Given the description of an element on the screen output the (x, y) to click on. 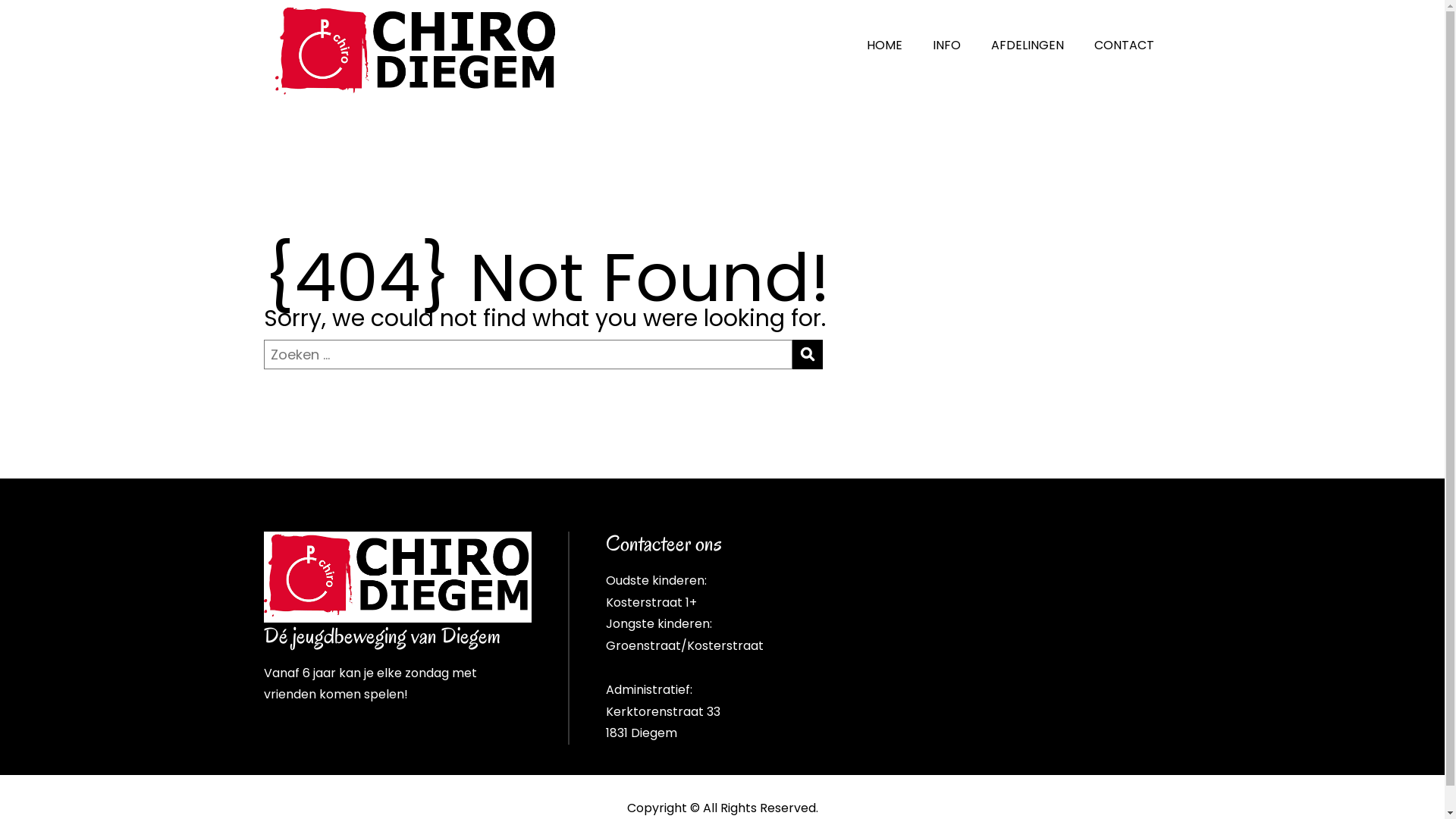
AFDELINGEN Element type: text (1027, 45)
Zoeken naar: Element type: hover (527, 354)
Search Element type: text (806, 354)
Chiro Diegem Element type: hover (397, 576)
CONTACT Element type: text (1124, 45)
HOME Element type: text (884, 45)
INFO Element type: text (946, 45)
